Given the description of an element on the screen output the (x, y) to click on. 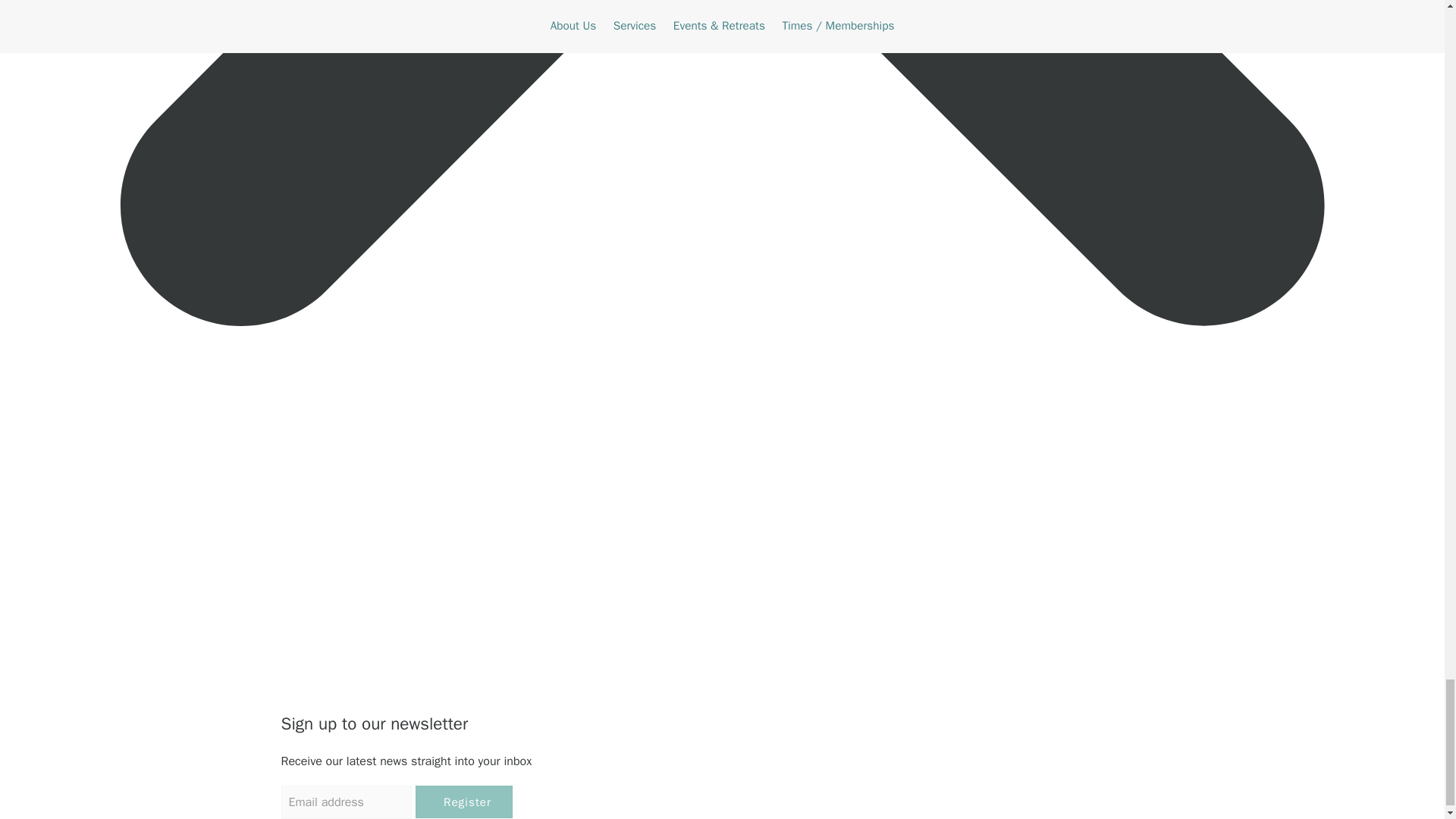
Register (463, 801)
